Given the description of an element on the screen output the (x, y) to click on. 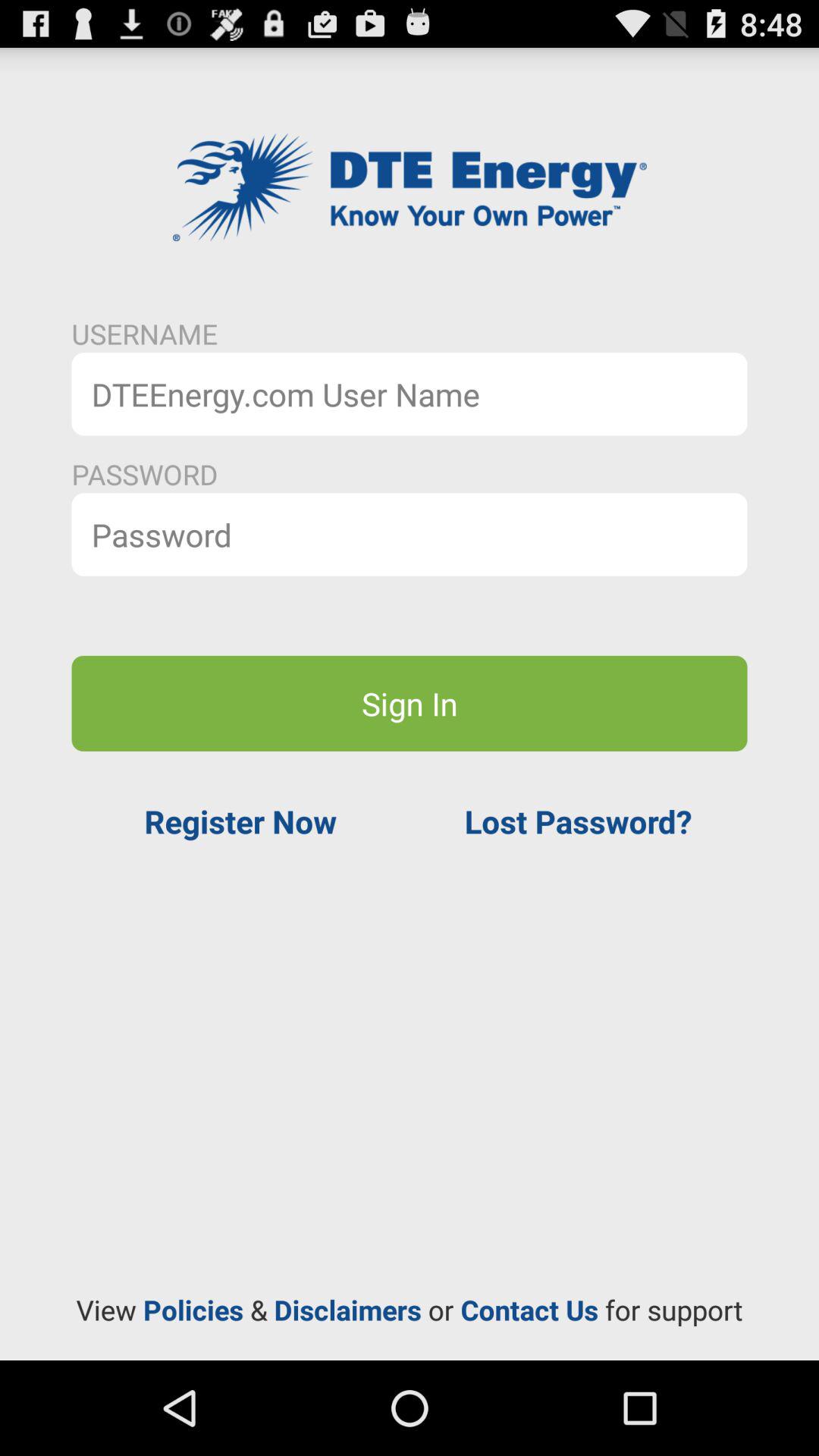
tap sign in button (409, 703)
